Given the description of an element on the screen output the (x, y) to click on. 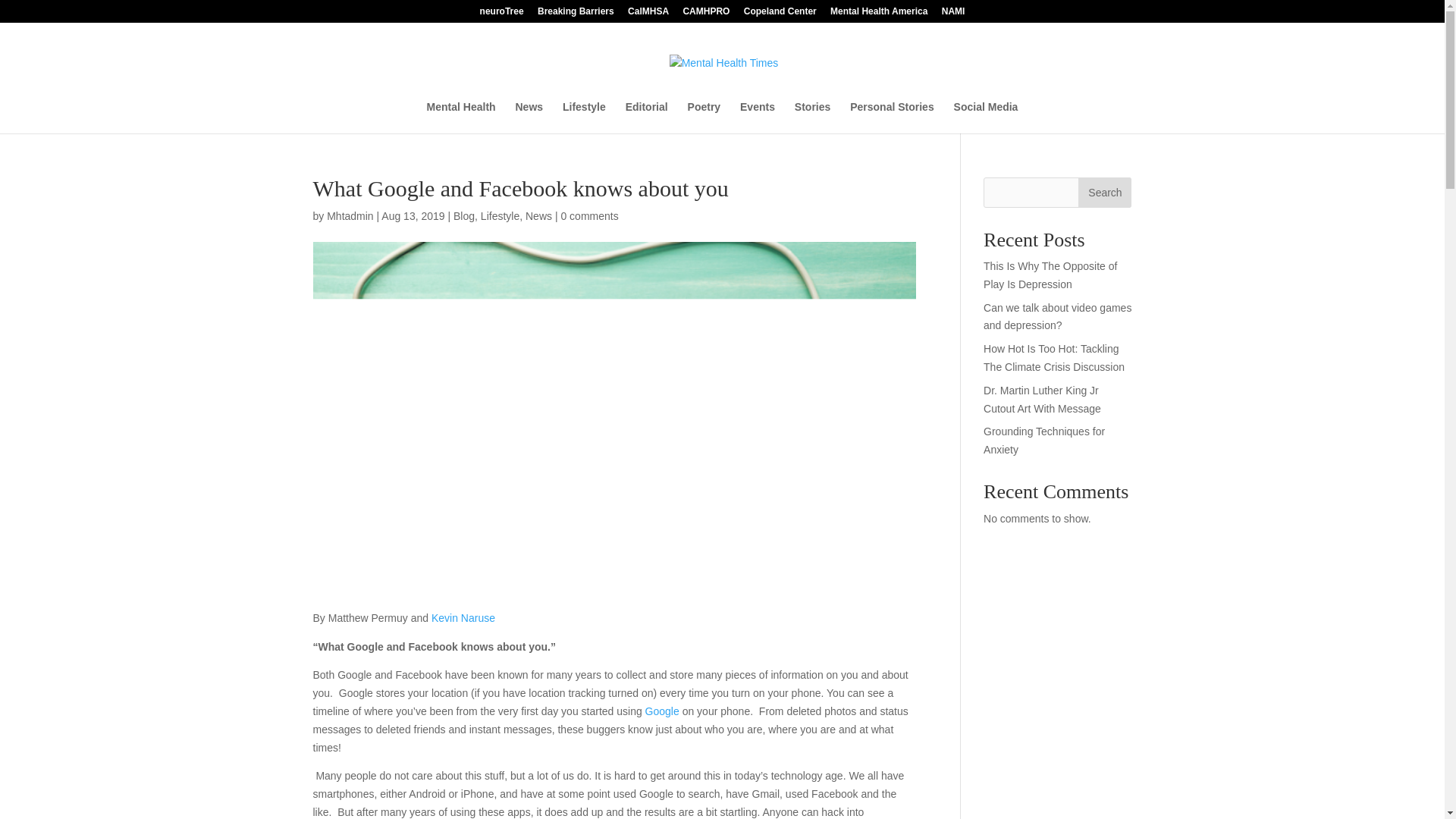
News (538, 215)
Mental Health America (878, 14)
Social Media (985, 117)
Stories (811, 117)
Lifestyle (499, 215)
Search (1104, 192)
Personal Stories (892, 117)
Kevin Naruse (462, 617)
0 comments (588, 215)
CAMHPRO (705, 14)
